Given the description of an element on the screen output the (x, y) to click on. 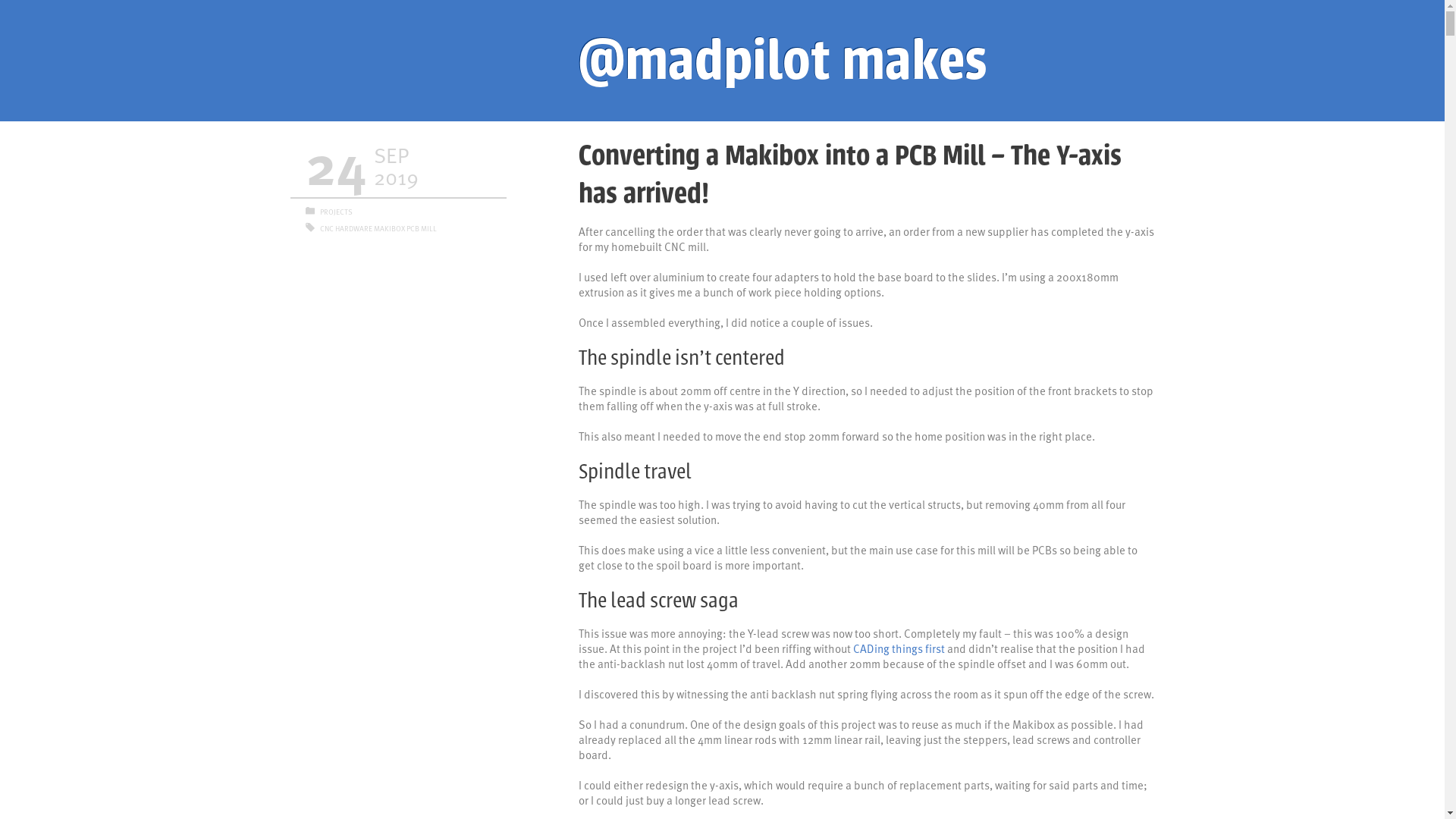
HARDWARE Element type: text (353, 227)
MAKIBOX Element type: text (388, 227)
PROJECTS Element type: text (336, 211)
PCB MILL Element type: text (421, 227)
CADing Element type: text (870, 648)
first Element type: text (934, 648)
@madpilot makes Element type: text (865, 60)
things Element type: text (906, 648)
24
SEP
2019 Element type: text (397, 167)
CNC Element type: text (326, 227)
